Given the description of an element on the screen output the (x, y) to click on. 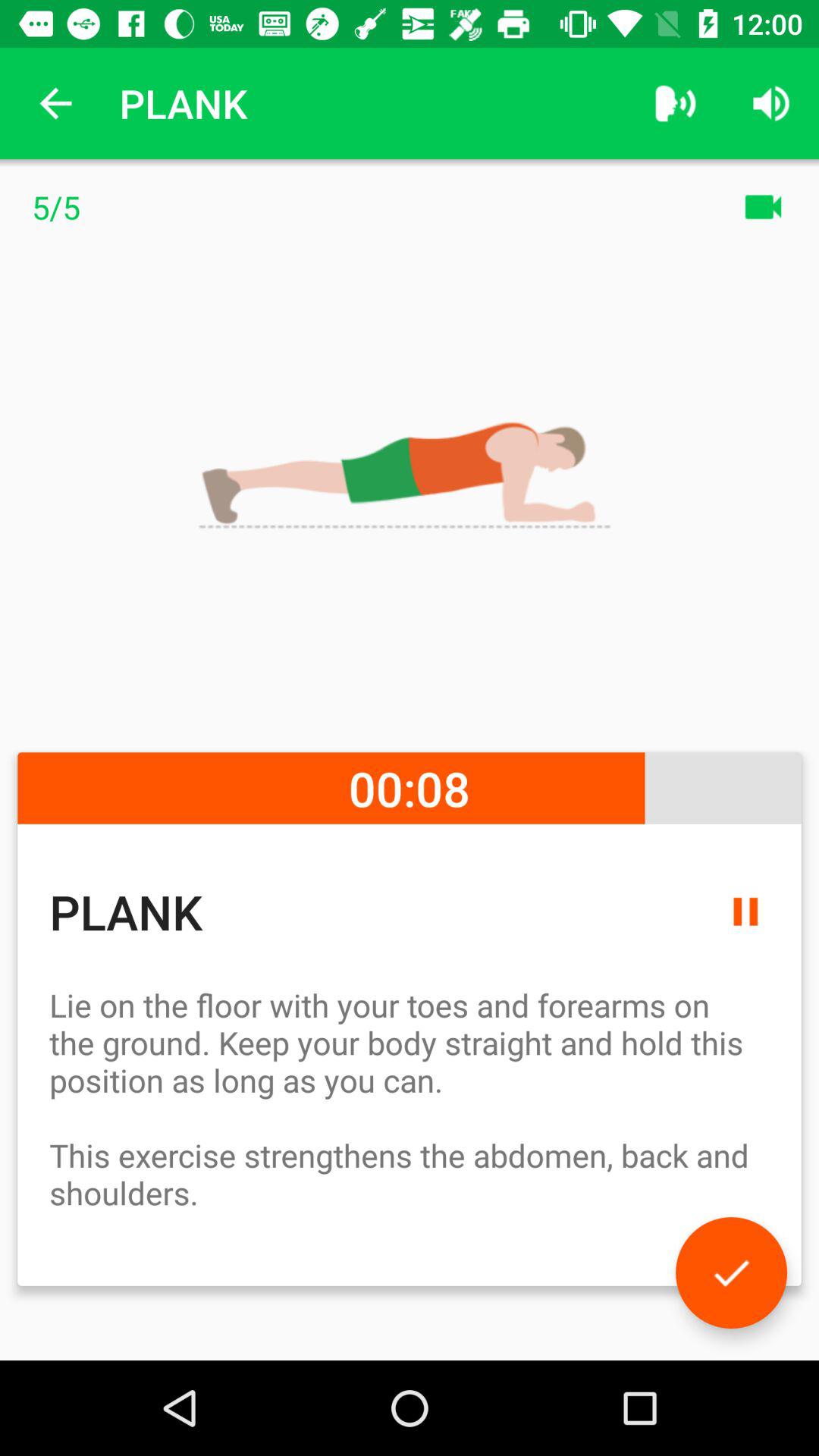
accept the task (731, 1272)
